Given the description of an element on the screen output the (x, y) to click on. 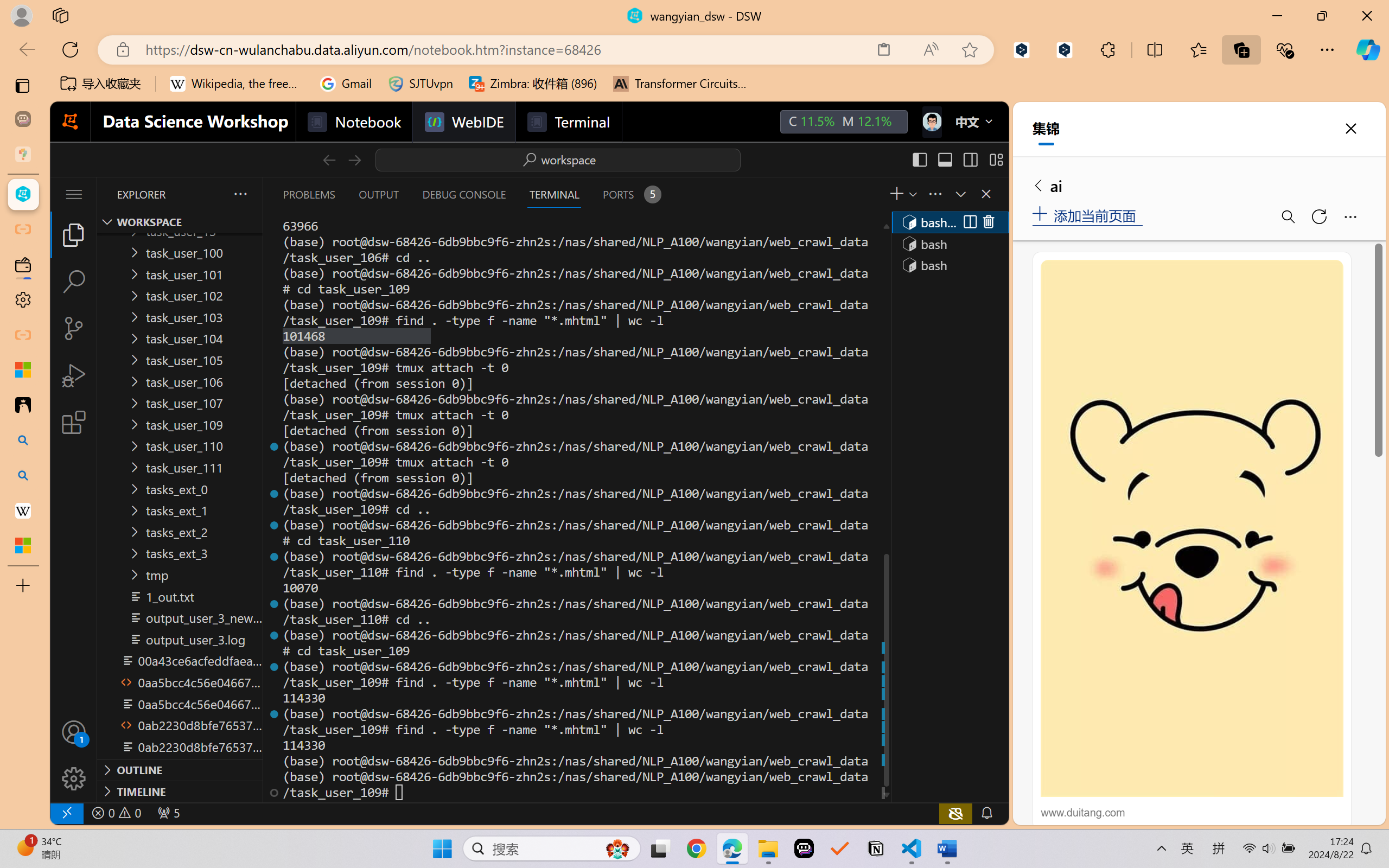
icon (930, 119)
Class: xterm-decoration-overview-ruler (885, 508)
Explorer (Ctrl+Shift+E) (73, 234)
Toggle Panel (Ctrl+J) (944, 159)
Search (Ctrl+Shift+F) (73, 281)
Manage (73, 755)
Restore Panel Size (959, 193)
wangyian_dsw - DSW (22, 194)
Launch Profile... (911, 193)
Run and Debug (Ctrl+Shift+D) (73, 375)
Class: actions-container (978, 221)
No Problems (115, 812)
